Given the description of an element on the screen output the (x, y) to click on. 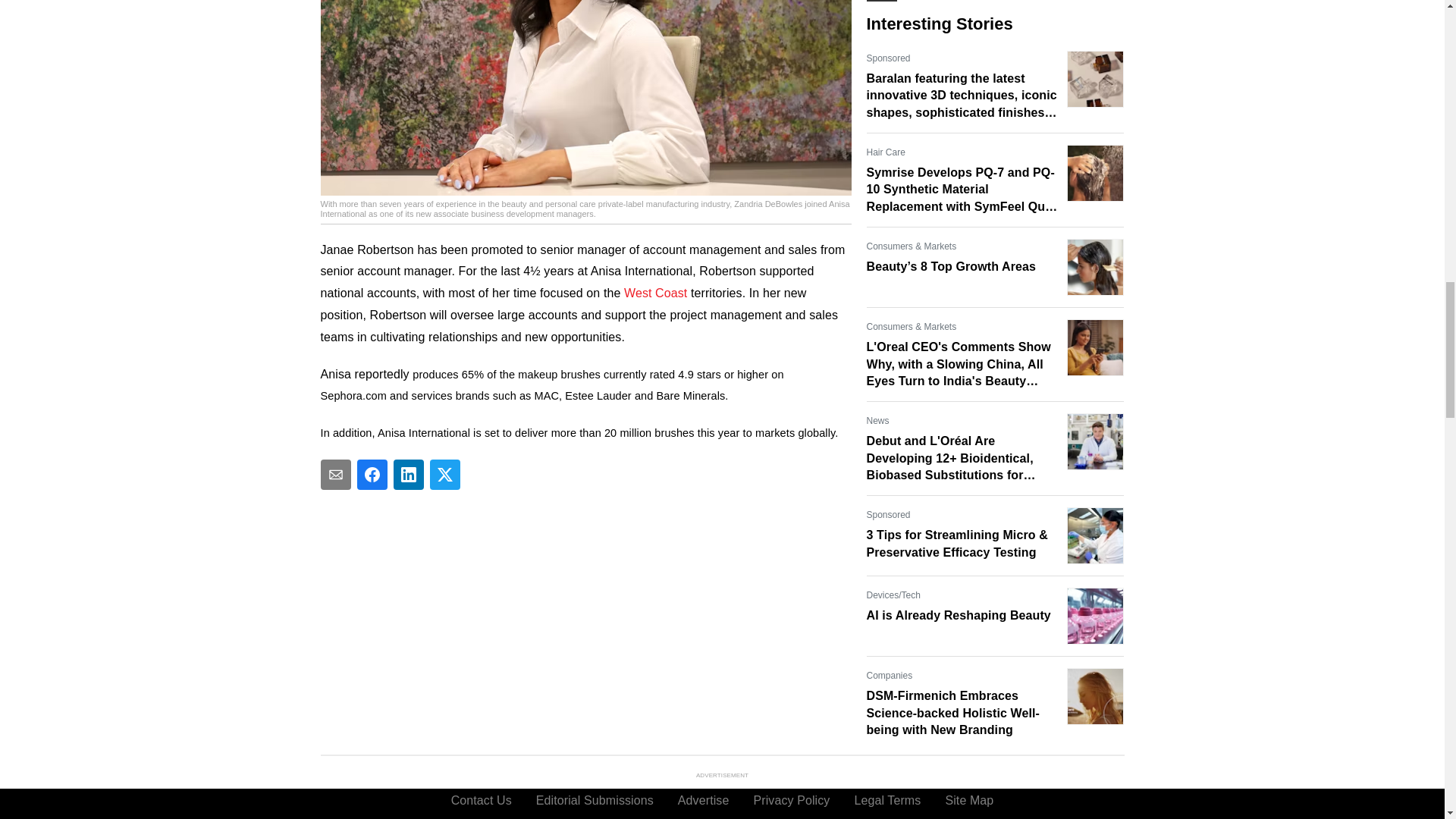
Share To twitter (444, 474)
Sponsored (888, 514)
Sponsored (888, 58)
Share To facebook (371, 474)
Share To linkedin (408, 474)
Share To email (335, 474)
